Given the description of an element on the screen output the (x, y) to click on. 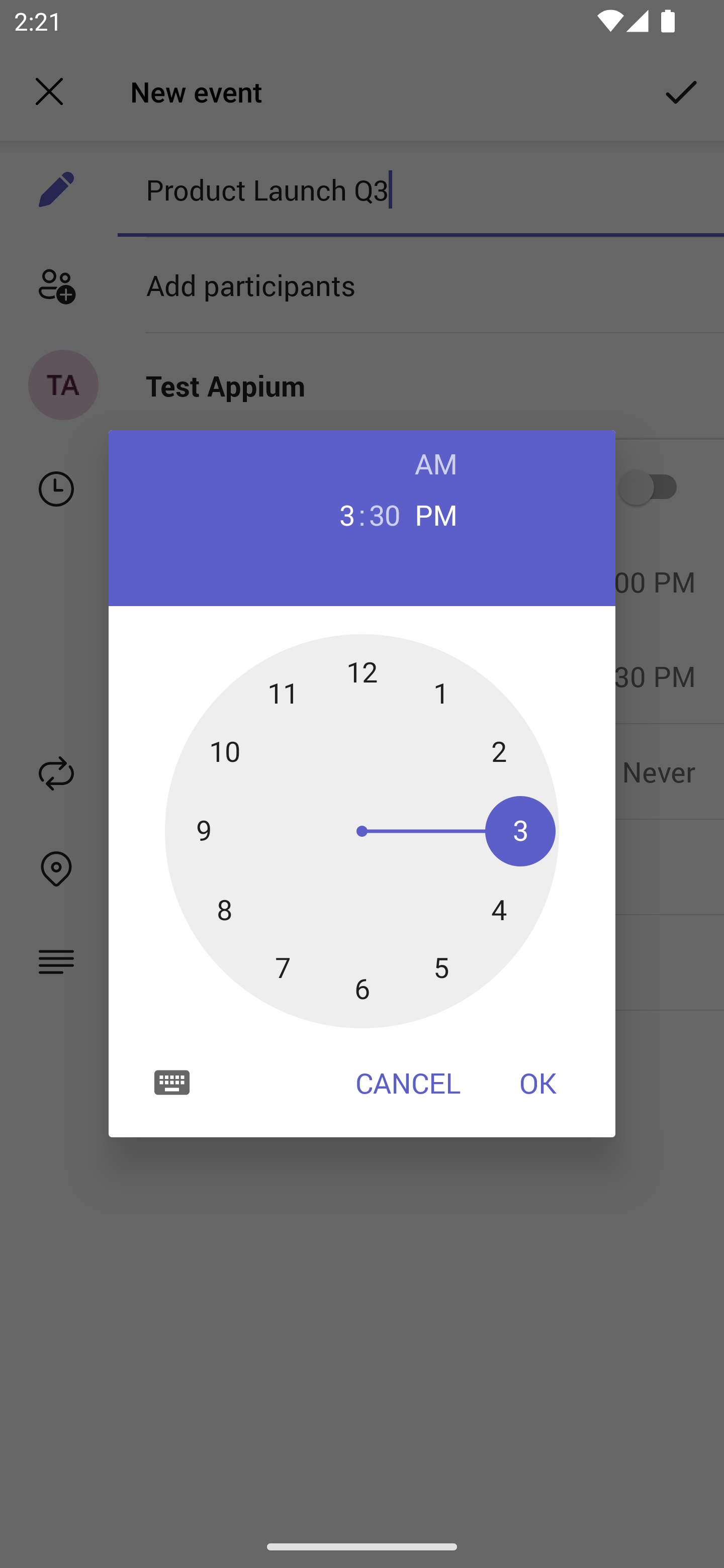
AM (435, 463)
PM (435, 514)
3 (338, 514)
30 (384, 514)
CANCEL (407, 1082)
OK (537, 1082)
Switch to text input mode for the time input. (171, 1081)
